Given the description of an element on the screen output the (x, y) to click on. 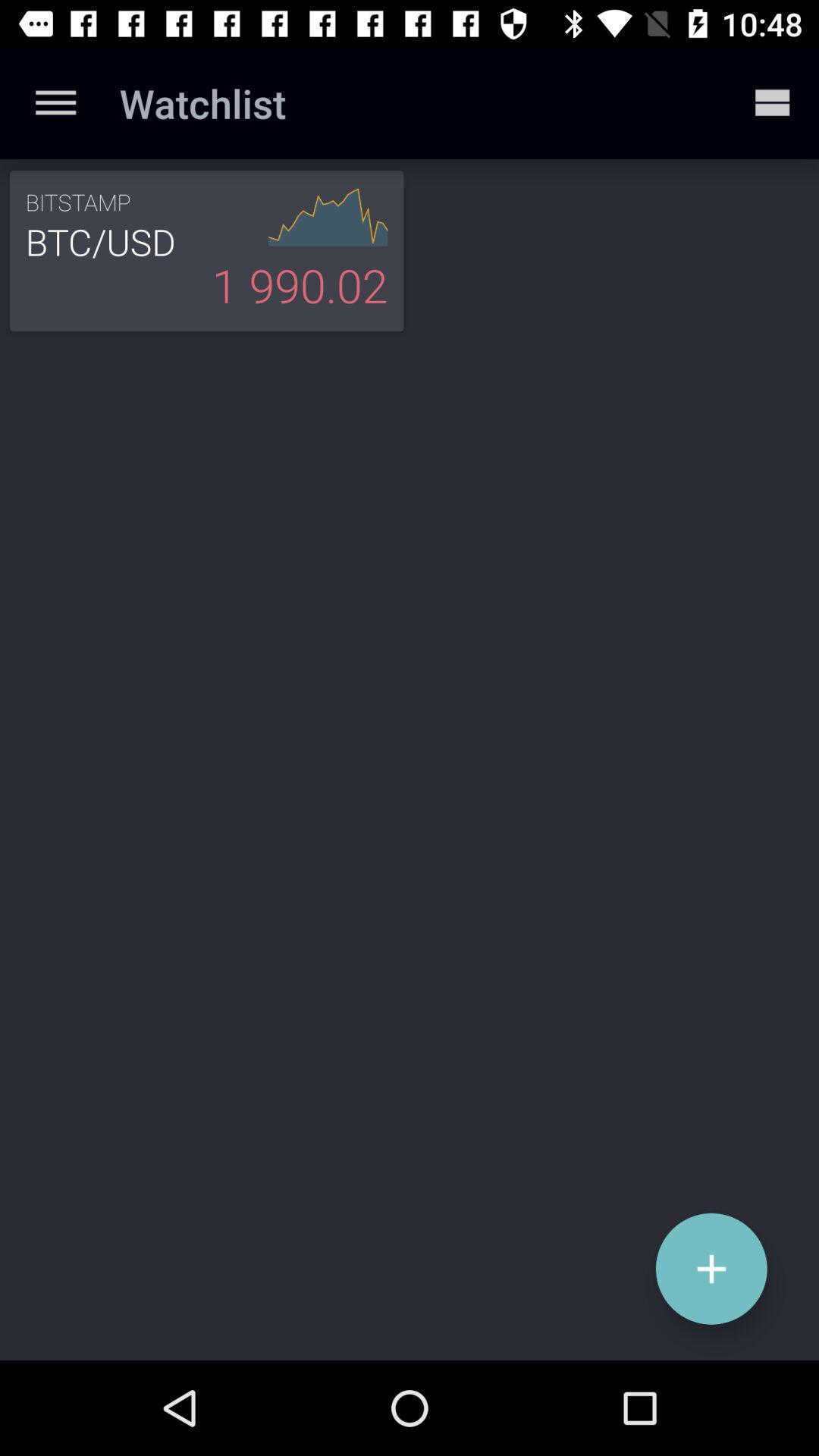
turn on icon at the top right corner (771, 103)
